Given the description of an element on the screen output the (x, y) to click on. 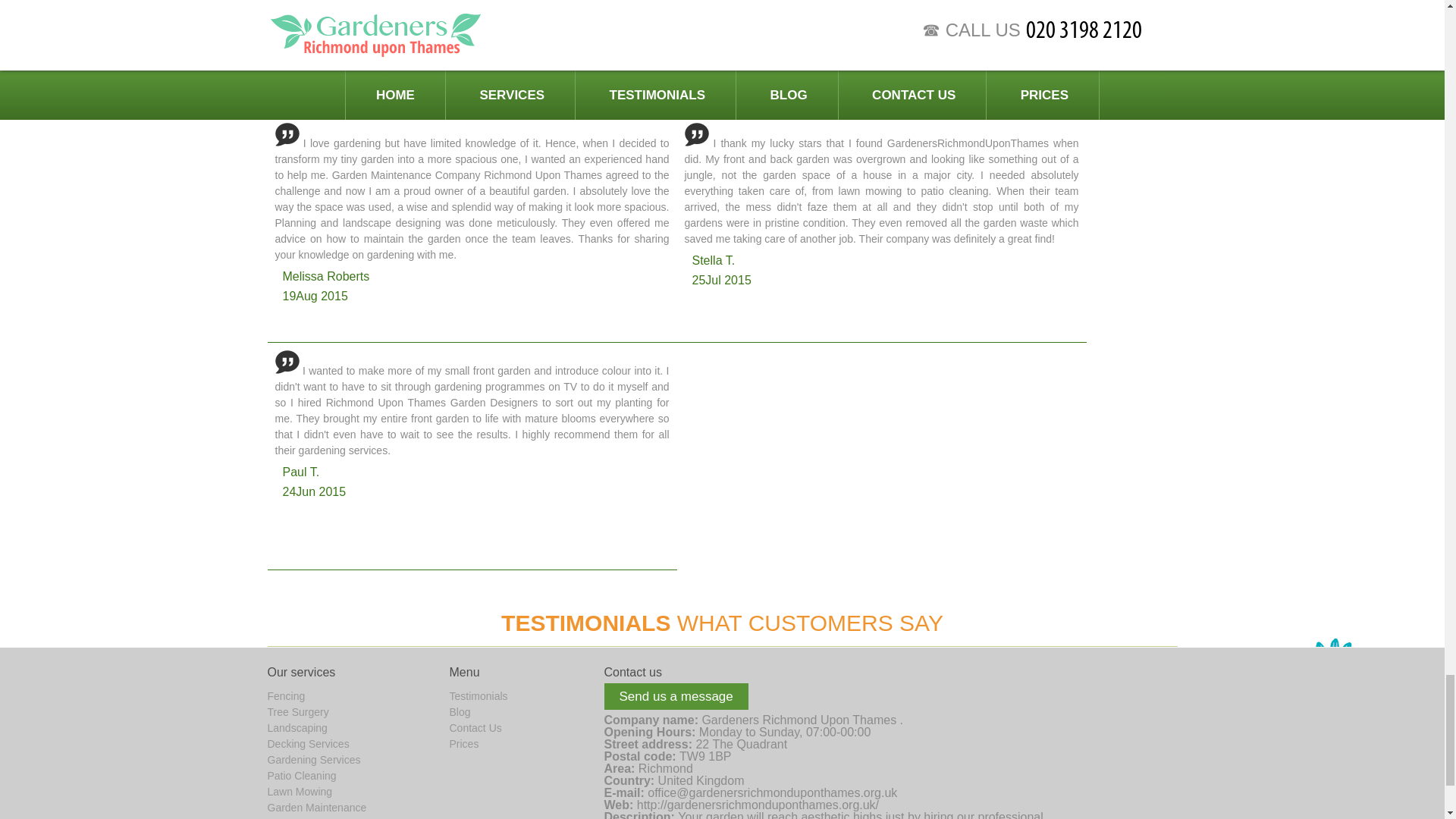
Send E-mail (771, 792)
